Given the description of an element on the screen output the (x, y) to click on. 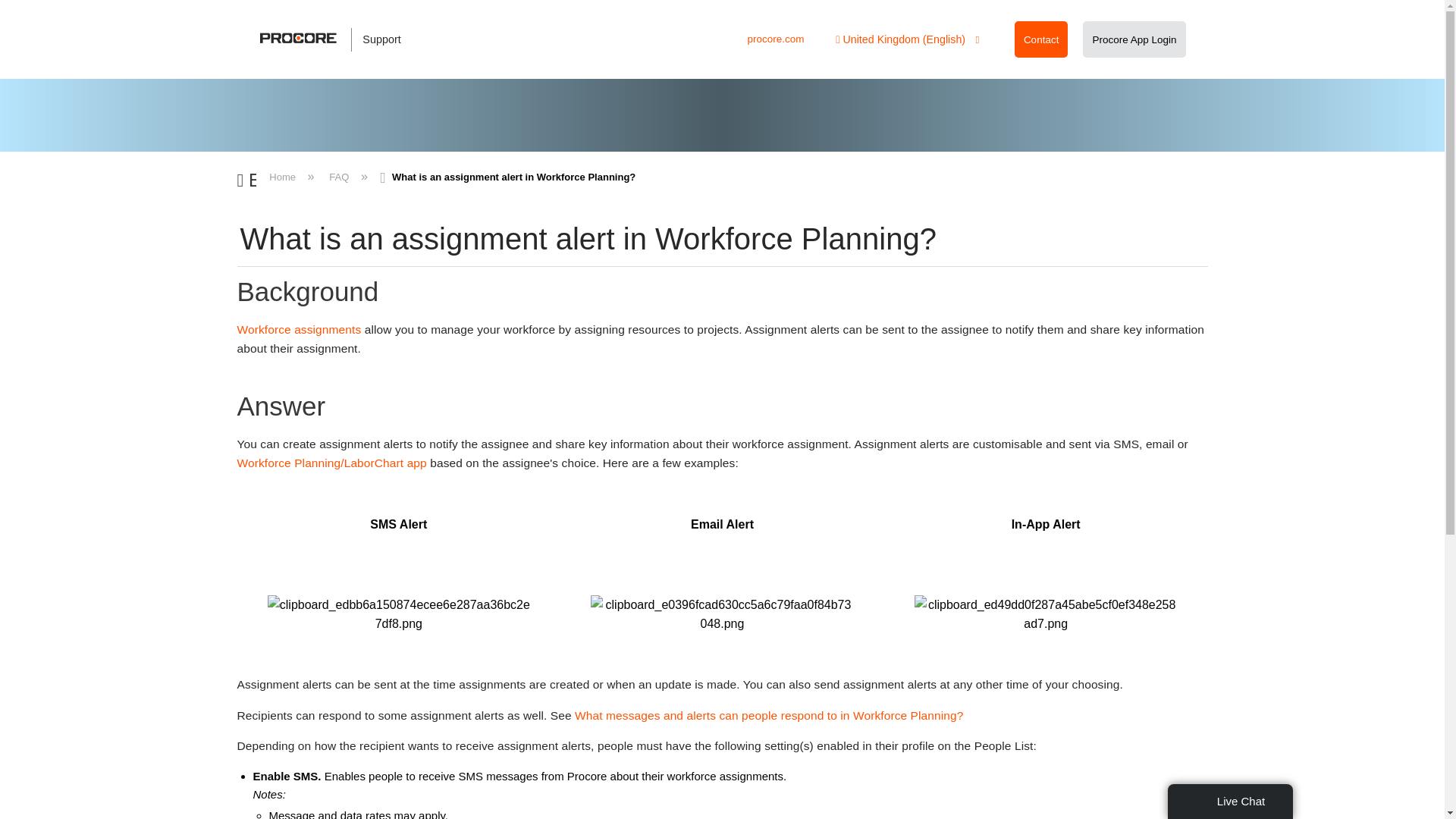
Home (283, 176)
procore.com (774, 39)
What is the LaborChart App? (330, 462)
Procore App Login (1134, 39)
Glossary of Terms (298, 328)
Contact (1041, 39)
FAQ (339, 176)
Workforce assignments (298, 328)
Support (338, 38)
Live Chat (1229, 801)
